Given the description of an element on the screen output the (x, y) to click on. 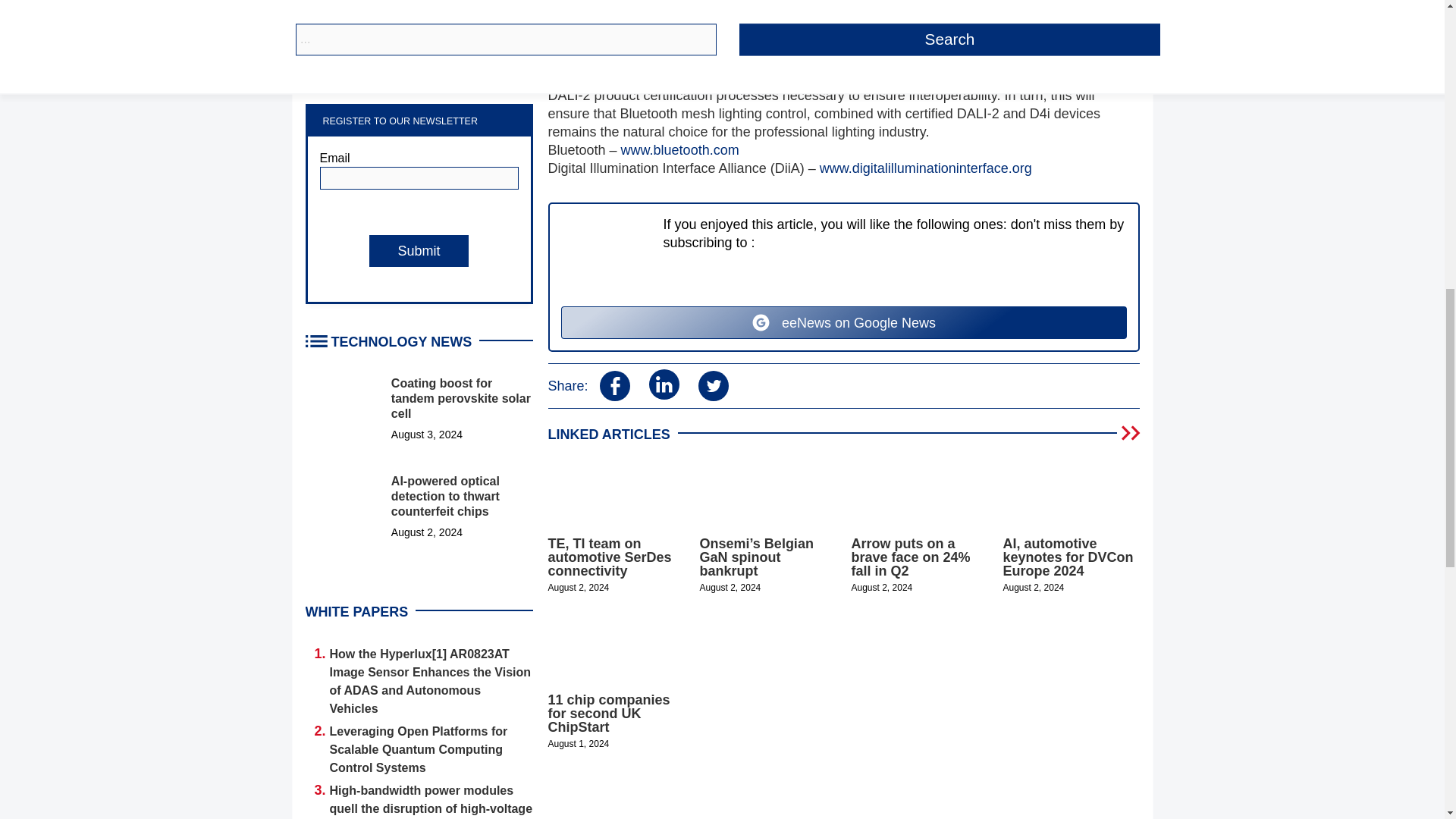
Submit (418, 250)
